Given the description of an element on the screen output the (x, y) to click on. 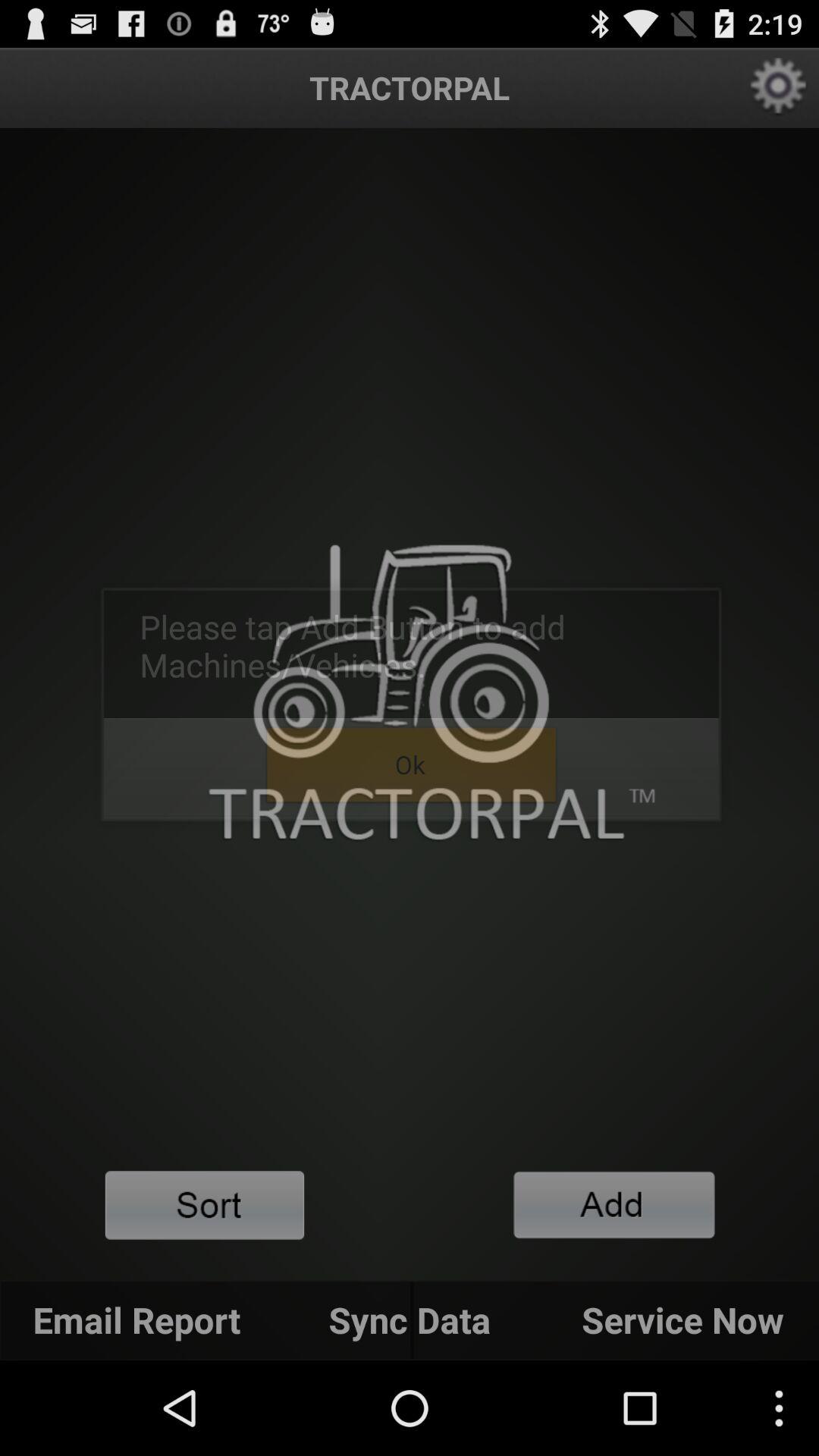
add record (613, 1204)
